Given the description of an element on the screen output the (x, y) to click on. 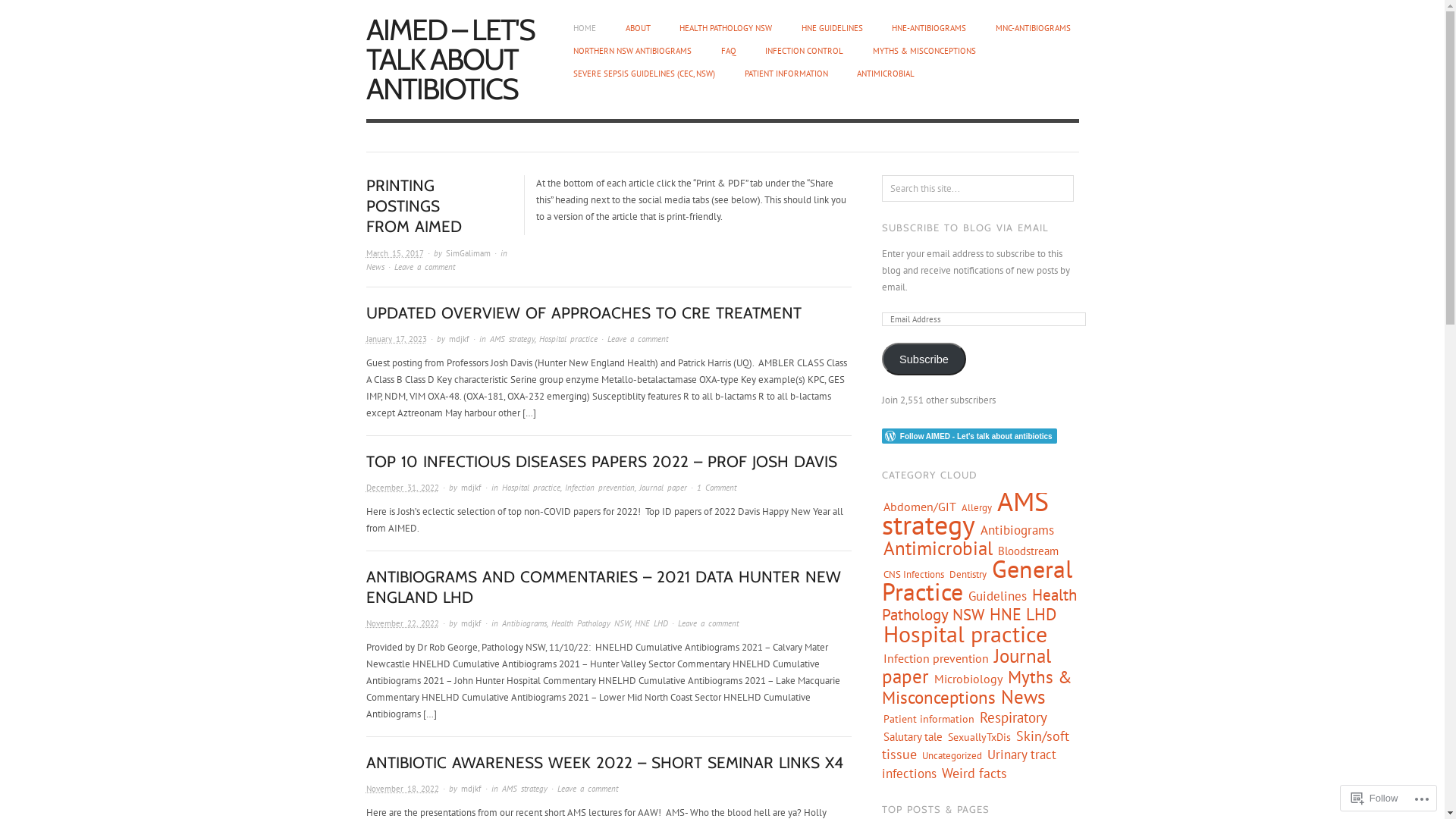
News Element type: text (374, 266)
mdjkf Element type: text (471, 788)
Hospital practice Element type: text (531, 487)
Follow Element type: text (1374, 797)
HNE GUIDELINES Element type: text (831, 27)
Skin/soft tissue Element type: text (974, 744)
Allergy Element type: text (975, 507)
mdjkf Element type: text (471, 623)
Subscribe Element type: text (923, 359)
SexuallyTxDis Element type: text (978, 736)
UPDATED OVERVIEW OF APPROACHES TO CRE TREATMENT Element type: text (582, 312)
Uncategorized Element type: text (951, 755)
Hospital practice Element type: text (965, 633)
HEALTH PATHOLOGY NSW Element type: text (725, 27)
HNE LHD Element type: text (650, 623)
Weird facts Element type: text (973, 772)
Search Element type: text (23, 12)
NORTHERN NSW ANTIBIOGRAMS Element type: text (632, 50)
December 31, 2022 Element type: text (401, 487)
AMS strategy Element type: text (524, 788)
Infection prevention Element type: text (598, 487)
Leave a comment Element type: text (424, 266)
AMS strategy Element type: text (511, 338)
Follow Button Element type: hover (979, 435)
MNC-ANTIBIOGRAMS Element type: text (1032, 27)
Microbiology Element type: text (967, 678)
mdjkf Element type: text (458, 338)
1 Comment Element type: text (715, 487)
March 15, 2017 Element type: text (394, 252)
November 22, 2022 Element type: text (401, 623)
SEVERE SEPSIS GUIDELINES (CEC, NSW) Element type: text (644, 73)
Journal paper Element type: text (662, 487)
Infection prevention Element type: text (935, 657)
November 18, 2022 Element type: text (401, 788)
Myths & Misconceptions Element type: text (976, 687)
Urinary tract infections Element type: text (968, 763)
Health Pathology NSW Element type: text (978, 604)
FAQ Element type: text (727, 50)
ABOUT Element type: text (636, 27)
ANTIMICROBIAL Element type: text (885, 73)
HOME Element type: text (584, 27)
Antibiograms Element type: text (1016, 529)
HNE LHD Element type: text (1022, 613)
Respiratory Element type: text (1012, 717)
Guidelines Element type: text (997, 595)
mdjkf Element type: text (471, 487)
Hospital practice Element type: text (567, 338)
January 17, 2023 Element type: text (395, 338)
Salutary tale Element type: text (912, 736)
News Element type: text (1022, 696)
Patient information Element type: text (928, 718)
INFECTION CONTROL Element type: text (804, 50)
Leave a comment Element type: text (707, 623)
Antimicrobial Element type: text (937, 548)
Bloodstream Element type: text (1027, 550)
AMS strategy Element type: text (964, 512)
Antibiograms Element type: text (524, 623)
Dentistry Element type: text (966, 574)
Leave a comment Element type: text (636, 338)
Abdomen/GIT Element type: text (919, 506)
CNS Infections Element type: text (913, 574)
SimGalimam Element type: text (467, 252)
PATIENT INFORMATION Element type: text (786, 73)
HNE-ANTIBIOGRAMS Element type: text (928, 27)
General Practice Element type: text (976, 580)
Leave a comment Element type: text (586, 788)
MYTHS & MISCONCEPTIONS Element type: text (923, 50)
Health Pathology NSW Element type: text (589, 623)
PRINTING POSTINGS FROM AIMED Element type: text (413, 205)
Journal paper Element type: text (965, 665)
